Given the description of an element on the screen output the (x, y) to click on. 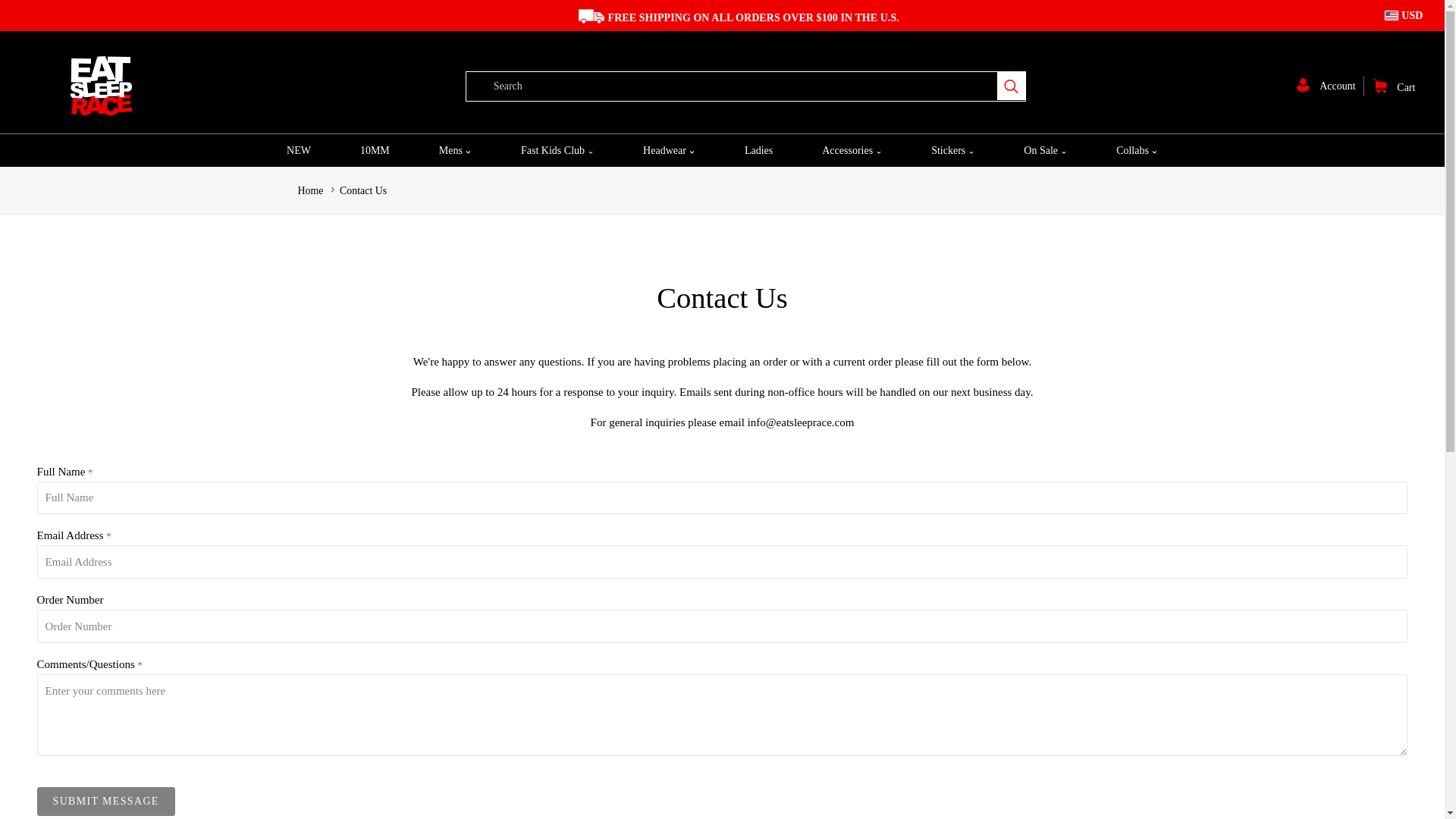
10MM (374, 150)
Cart (1393, 87)
Cart (1393, 87)
Fast Kids Club (556, 150)
NEW (298, 150)
Submit Message (105, 801)
Account (1329, 85)
Mens (454, 150)
Headwear (668, 150)
